Given the description of an element on the screen output the (x, y) to click on. 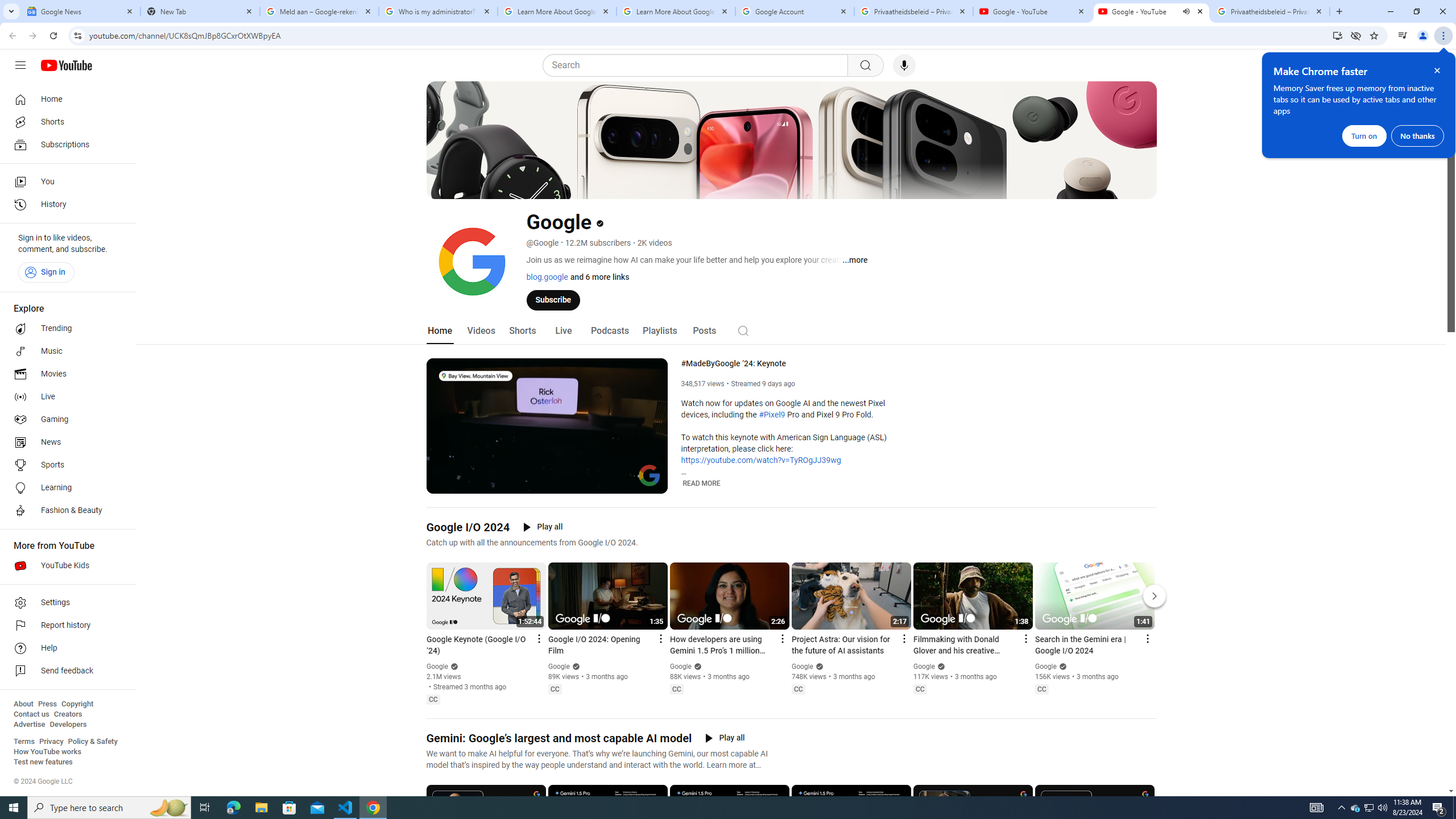
Action menu (1146, 638)
READ MORE (701, 483)
About (23, 703)
Install YouTube (1336, 35)
Report history (64, 625)
https://youtube.com/watch?v=TyROgJJ39wg (761, 460)
Seek slider (546, 471)
